Given the description of an element on the screen output the (x, y) to click on. 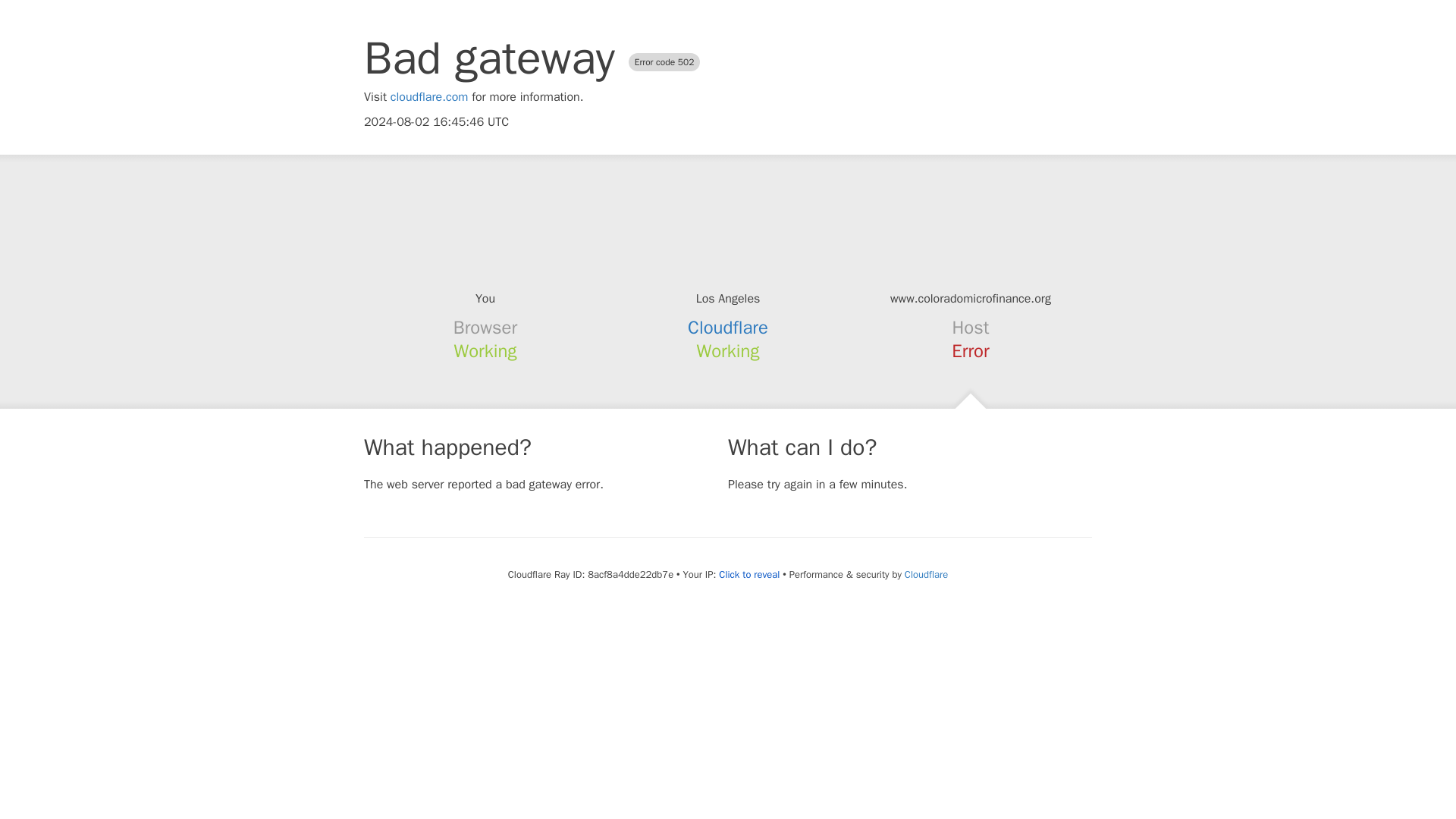
Cloudflare (925, 574)
Click to reveal (748, 574)
Cloudflare (727, 327)
cloudflare.com (429, 96)
